Given the description of an element on the screen output the (x, y) to click on. 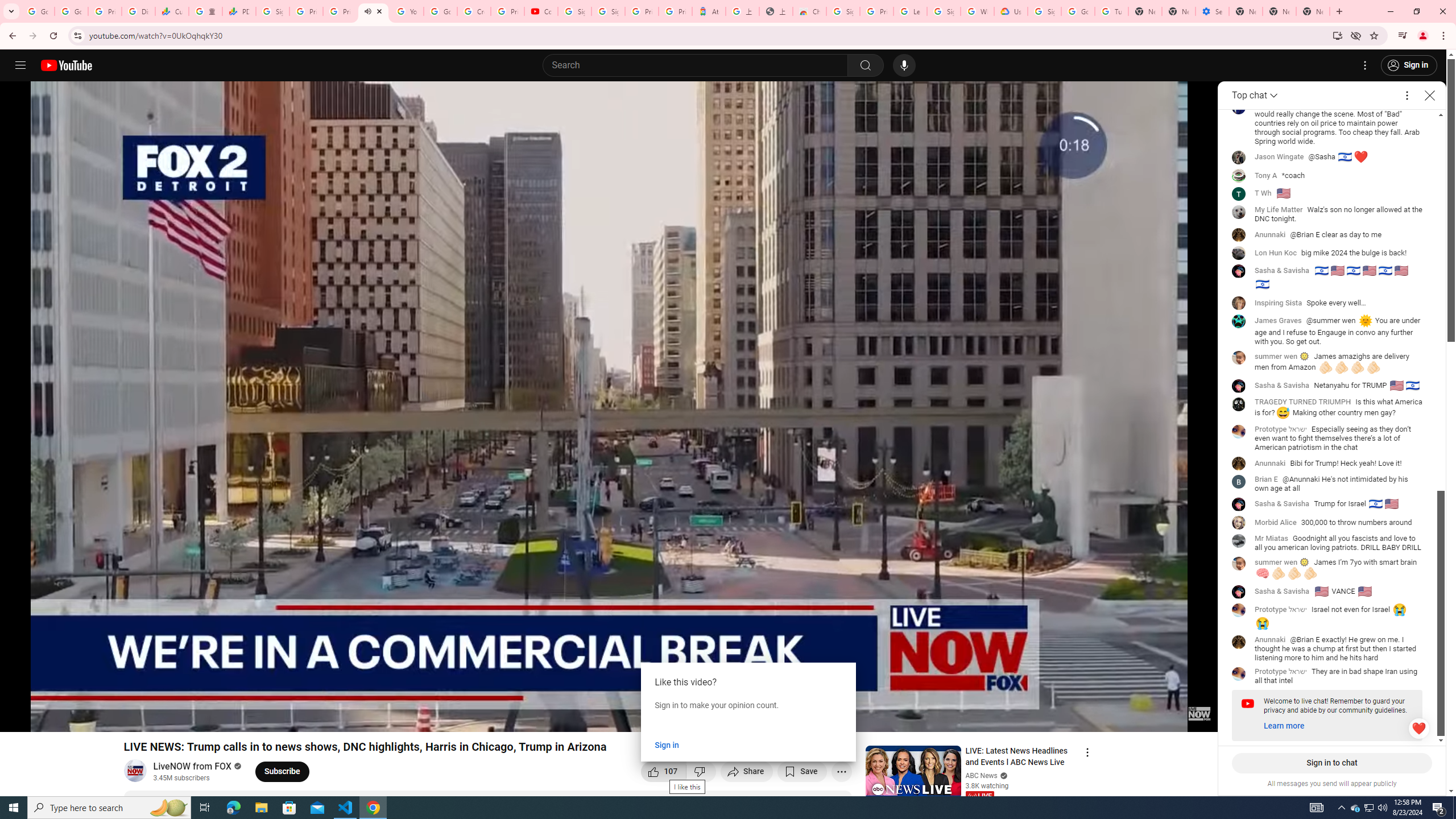
Full screen (f) (1197, 718)
Guide (20, 65)
Next (SHIFT+n) (46, 718)
Dislike this video (700, 771)
Who are Google's partners? - Privacy and conditions - Google (976, 11)
Sign in - Google Accounts (272, 11)
Settings - Addresses and more (1212, 11)
Create your Google Account (474, 11)
